Given the description of an element on the screen output the (x, y) to click on. 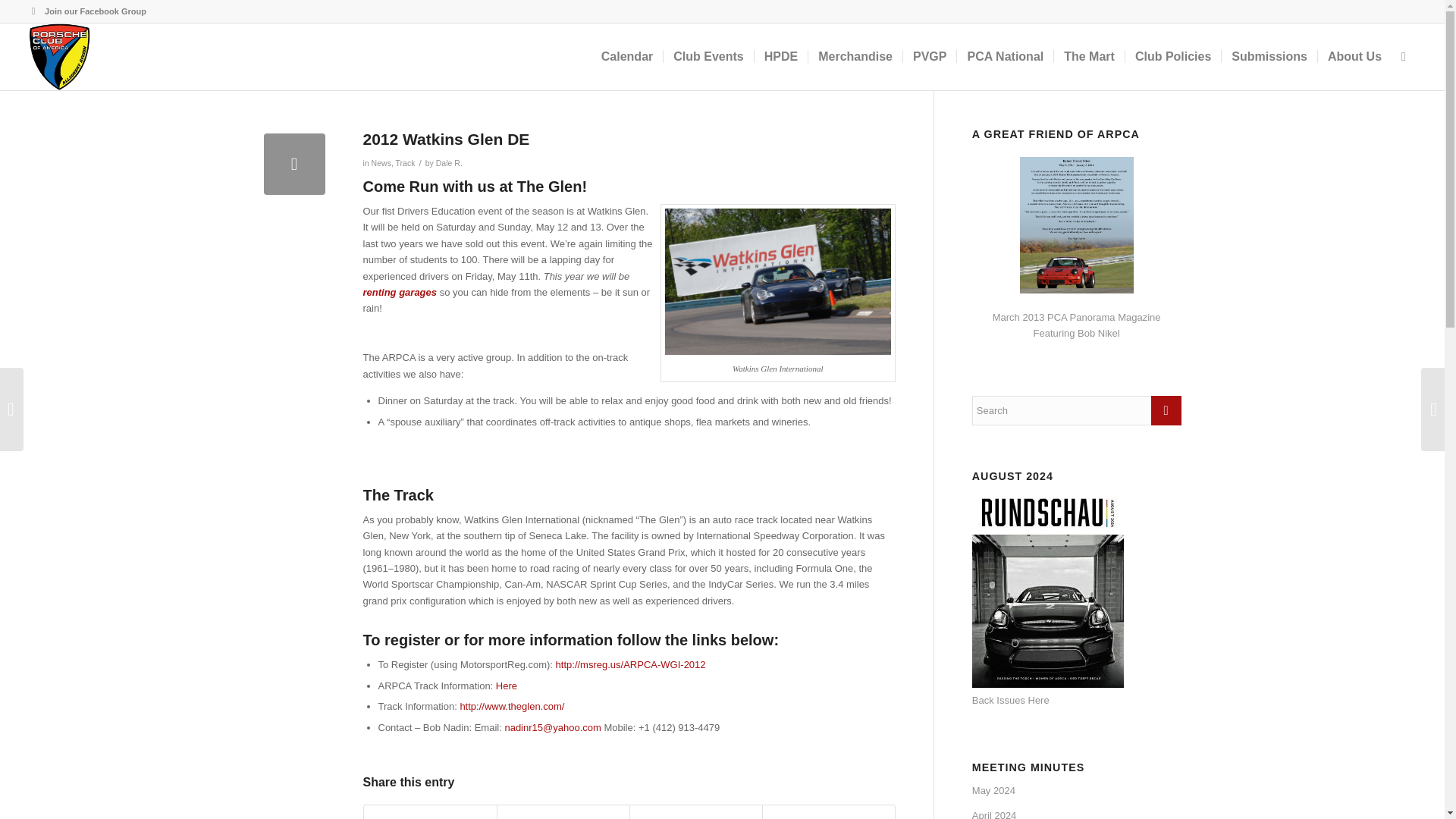
The Mart (1088, 56)
Facebook (33, 11)
Club Policies (1172, 56)
Submissions (1269, 56)
2012 Watkins Glen DE (293, 163)
Posts by Dale R. (449, 162)
Supporting Materials (506, 685)
Calendar (626, 56)
PCA National (1004, 56)
Merchandise (855, 56)
Club Events (707, 56)
DE WGI 2010 (778, 281)
